Given the description of an element on the screen output the (x, y) to click on. 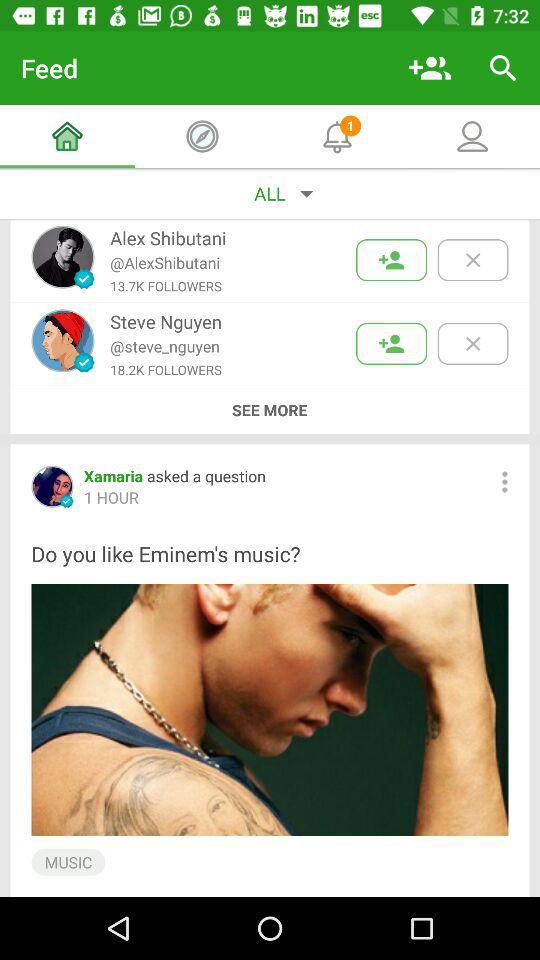
develop the menu for more options (504, 481)
